Given the description of an element on the screen output the (x, y) to click on. 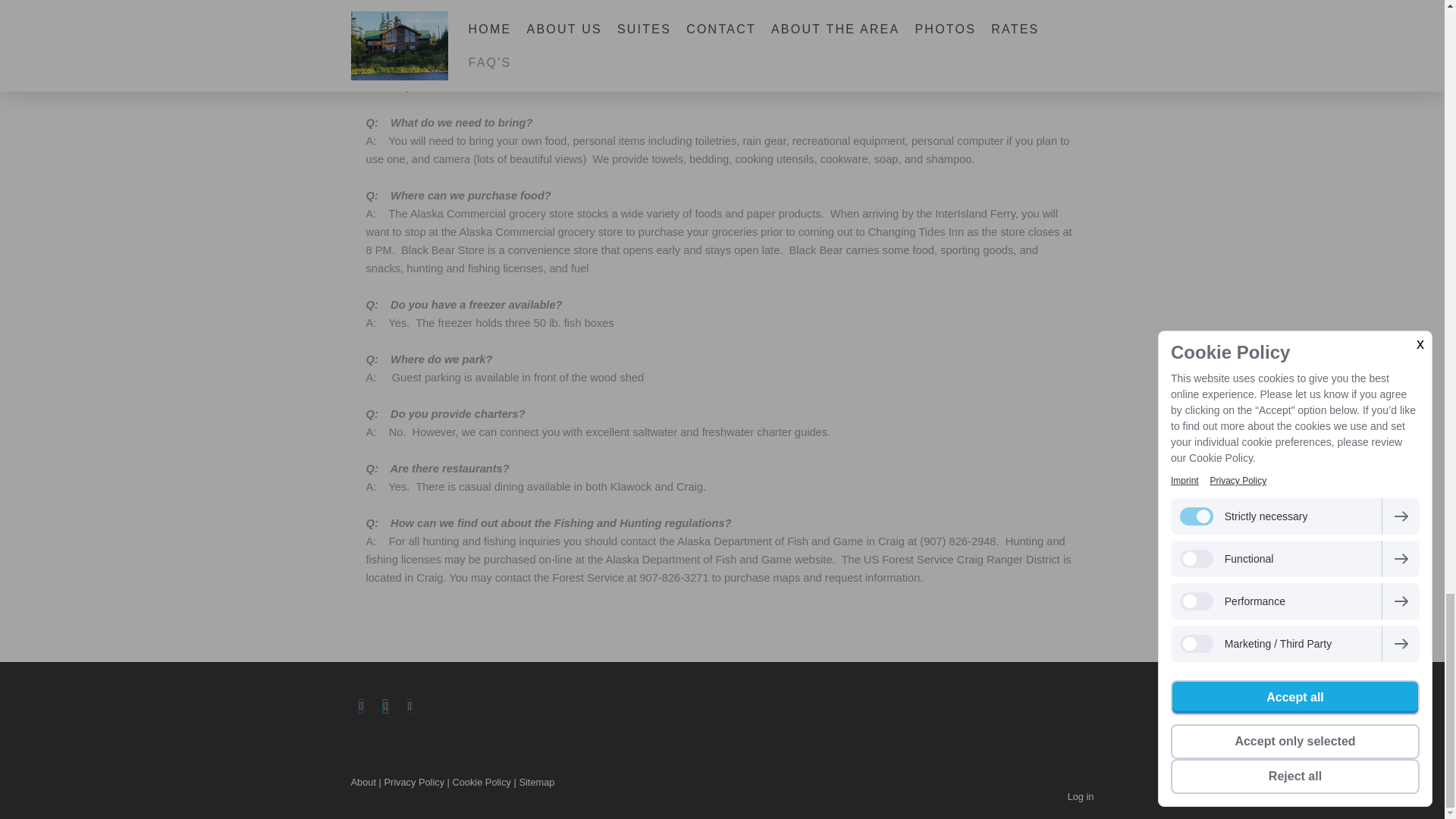
Facebook (360, 706)
Cookie Policy (481, 781)
Sitemap (536, 781)
Log in (1080, 796)
Privacy Policy (414, 781)
Email (409, 706)
Twitter (385, 706)
About (362, 781)
